Given the description of an element on the screen output the (x, y) to click on. 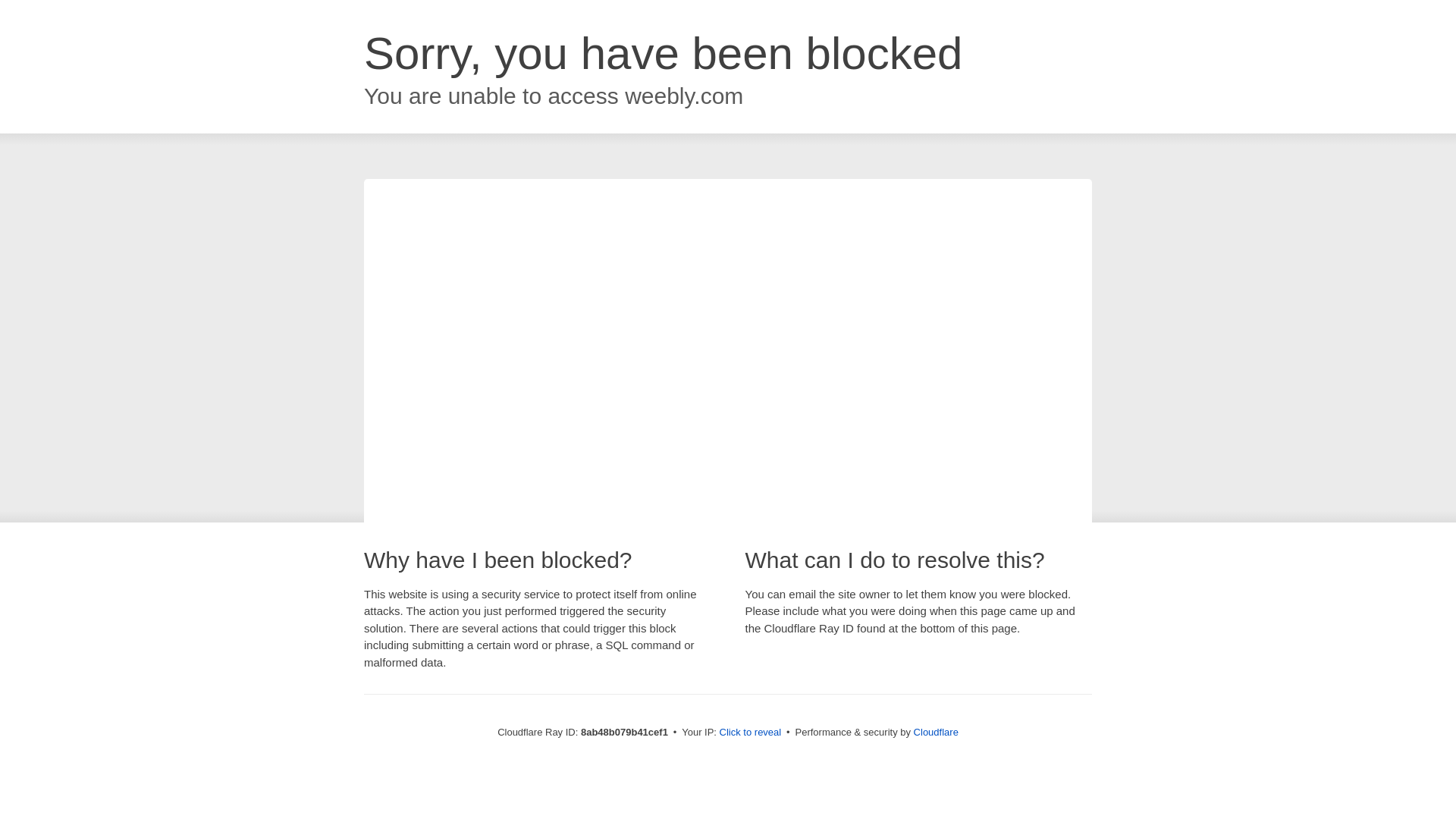
Cloudflare (936, 731)
Click to reveal (750, 732)
